Given the description of an element on the screen output the (x, y) to click on. 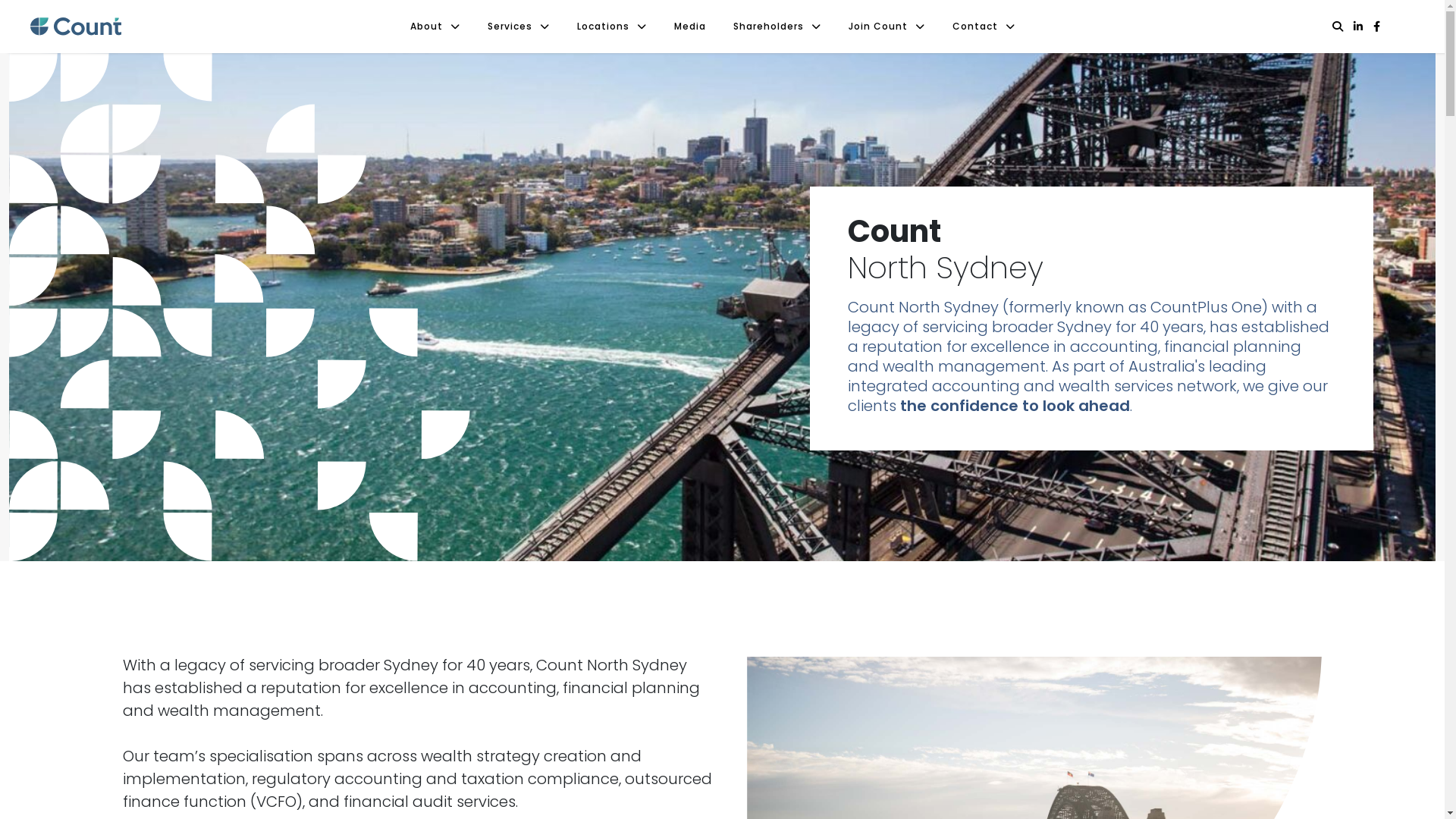
Shareholders Element type: text (777, 26)
Locations Element type: text (611, 26)
Contact Element type: text (983, 26)
Join Count Element type: text (886, 26)
About Element type: text (435, 26)
Services Element type: text (518, 26)
Media Element type: text (690, 26)
